Given the description of an element on the screen output the (x, y) to click on. 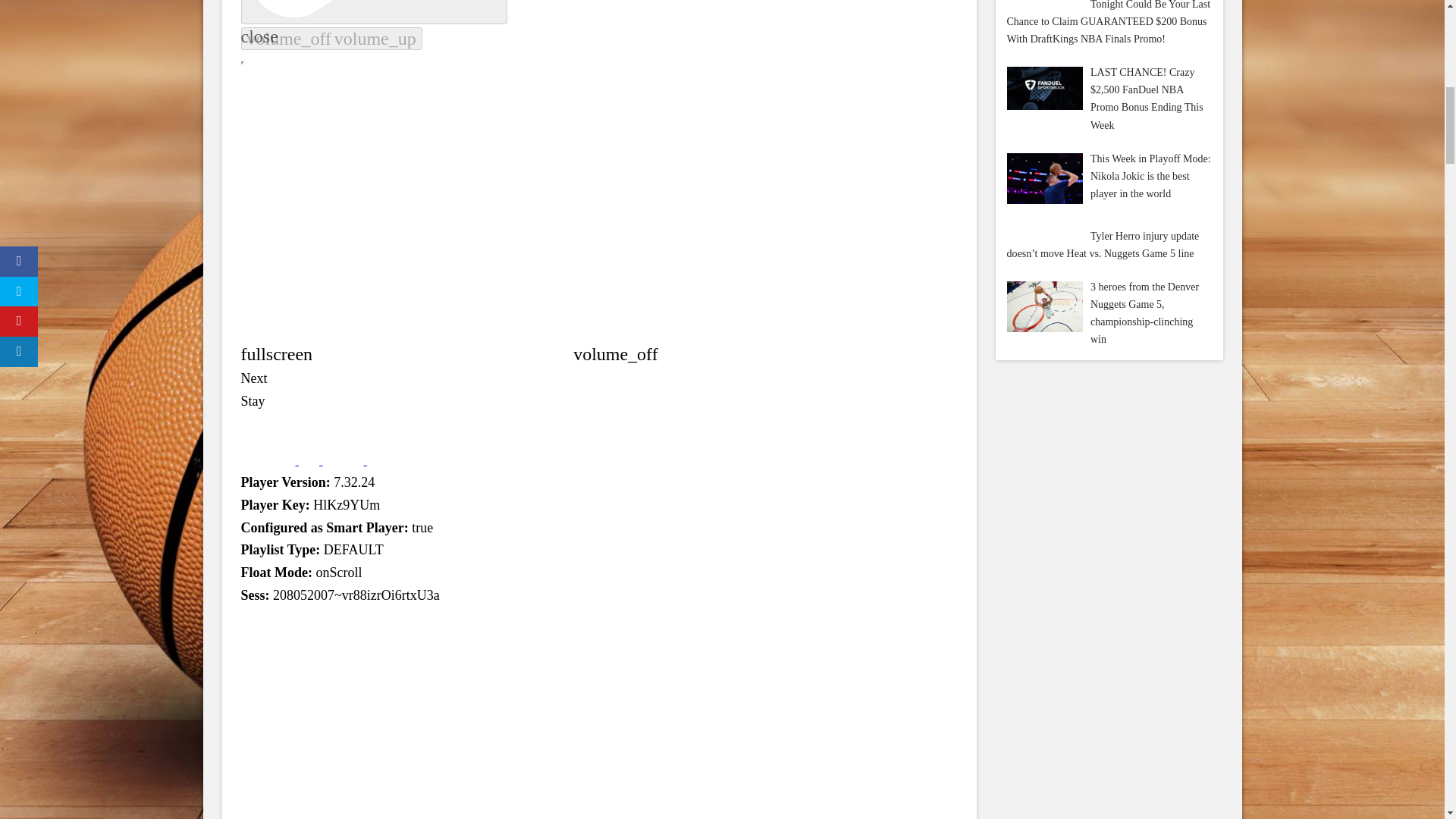
Advertisement (1108, 595)
